Given the description of an element on the screen output the (x, y) to click on. 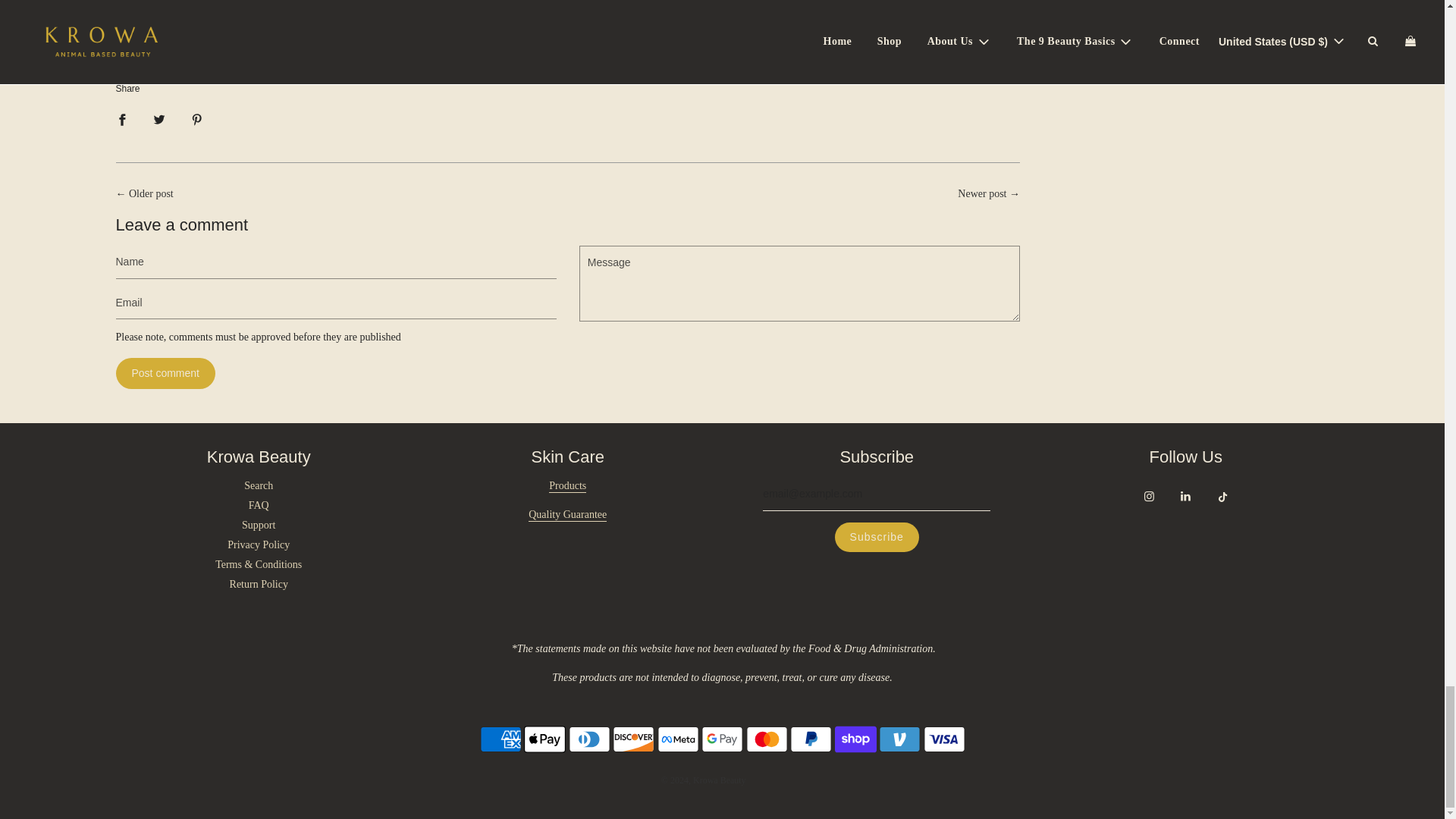
Discover (632, 738)
PayPal (810, 738)
Home page products (567, 486)
Google Pay (721, 738)
Visa (944, 738)
Meta Pay (677, 738)
Mastercard (766, 738)
Shop Pay (855, 738)
Post comment (164, 373)
Quality Guarantee (567, 514)
